Given the description of an element on the screen output the (x, y) to click on. 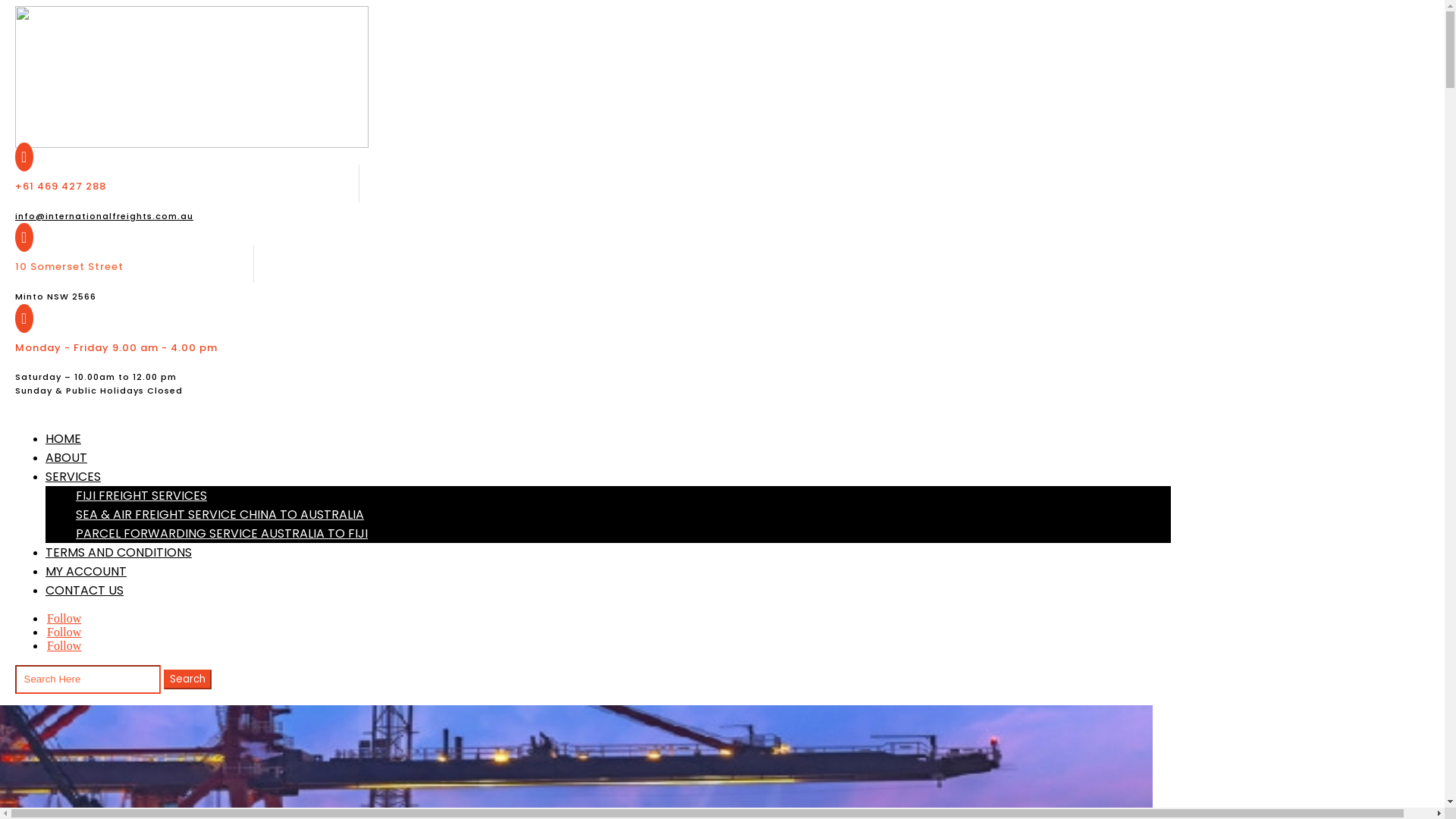
IFL-Logo Element type: hover (191, 76)
CONTACT US Element type: text (84, 590)
FIJI FREIGHT SERVICES Element type: text (141, 495)
HOME Element type: text (63, 438)
PARCEL FORWARDING SERVICE AUSTRALIA TO FIJI Element type: text (221, 533)
Follow Element type: text (63, 618)
MY ACCOUNT Element type: text (85, 571)
ABOUT Element type: text (66, 457)
info@internationalfreights.com.au Element type: text (104, 216)
Follow Element type: text (63, 645)
SERVICES Element type: text (72, 476)
TERMS AND CONDITIONS Element type: text (118, 552)
Search Element type: text (187, 679)
SEA & AIR FREIGHT SERVICE CHINA TO AUSTRALIA Element type: text (219, 514)
Follow Element type: text (63, 632)
